Given the description of an element on the screen output the (x, y) to click on. 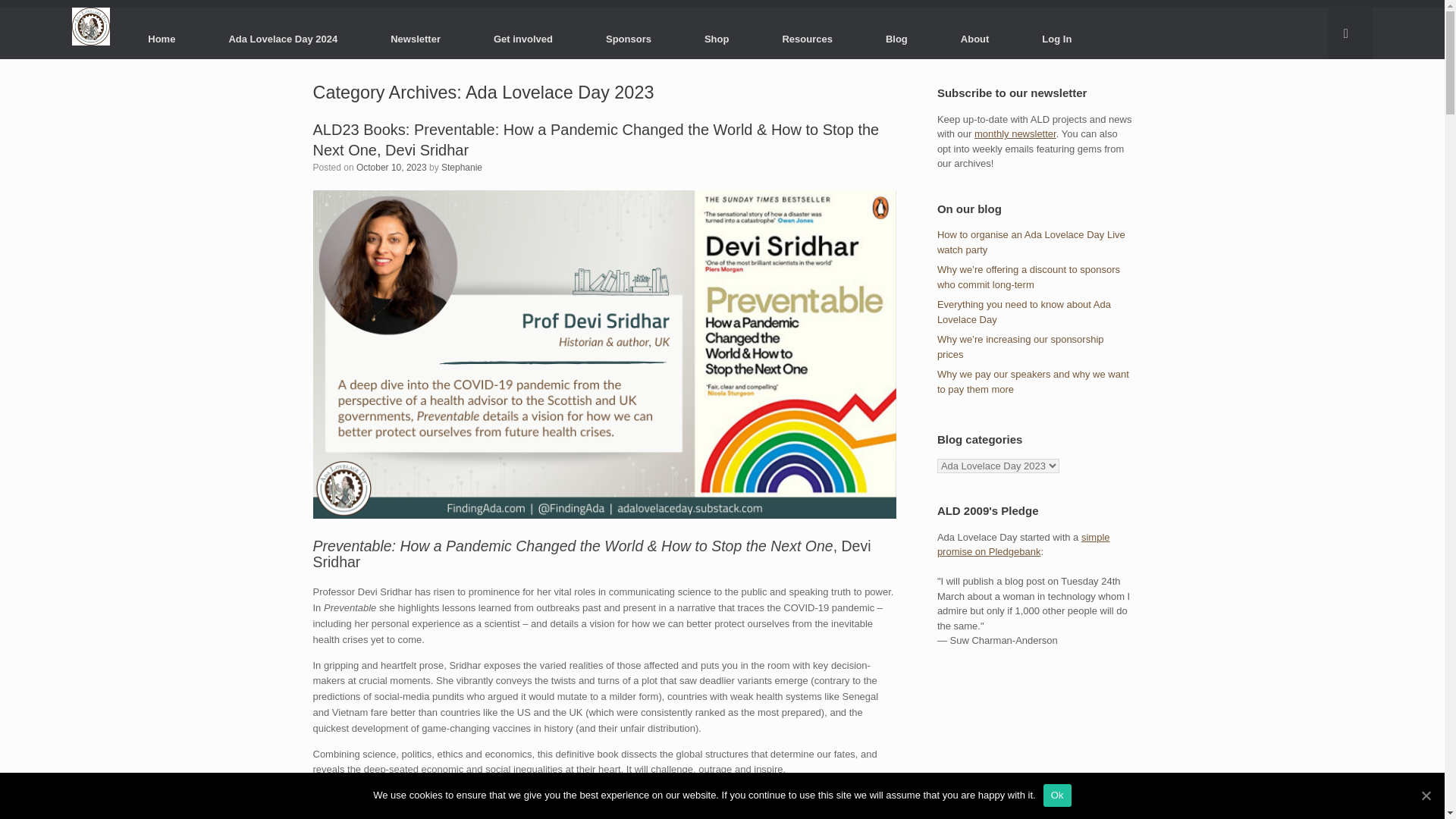
Home (161, 38)
9:30 pm (391, 167)
Ada Lovelace Day 2024 (283, 38)
Ada Lovelace Day (90, 26)
View all posts by Stephanie (461, 167)
